Given the description of an element on the screen output the (x, y) to click on. 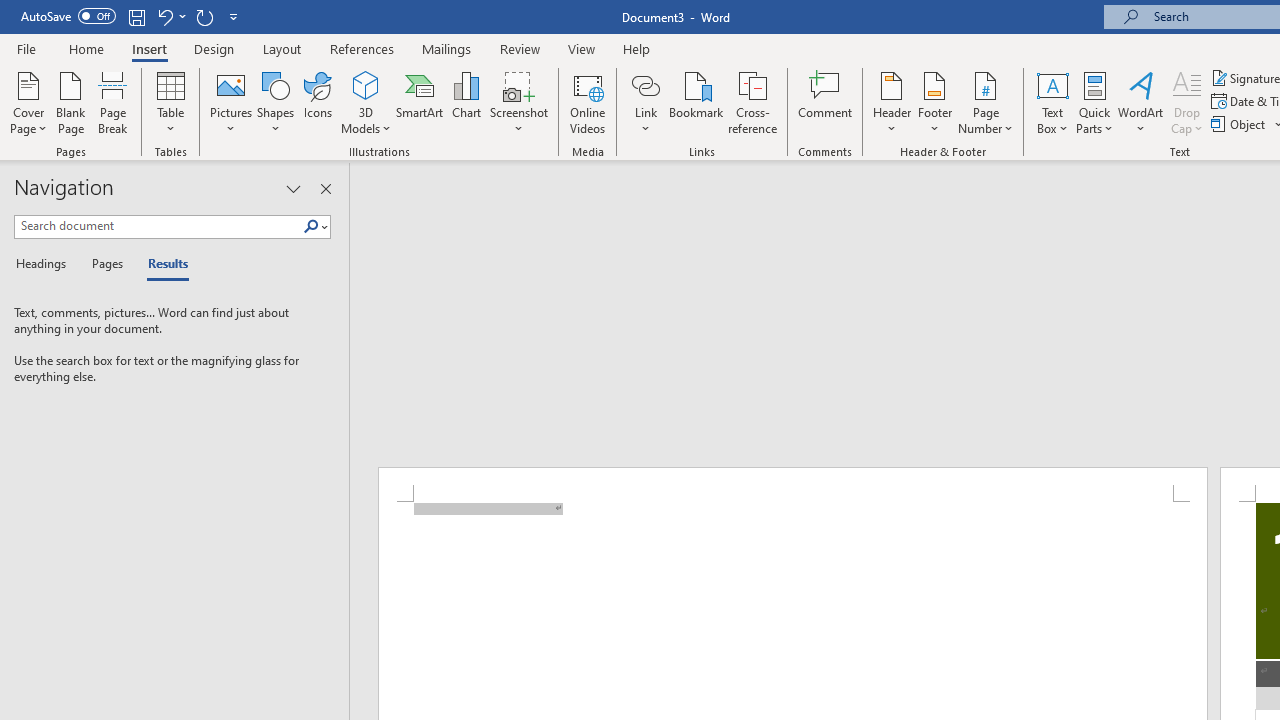
Shapes (275, 102)
Quick Parts (1094, 102)
Blank Page (70, 102)
SmartArt... (419, 102)
Pictures (230, 102)
Undo New Page (170, 15)
